Given the description of an element on the screen output the (x, y) to click on. 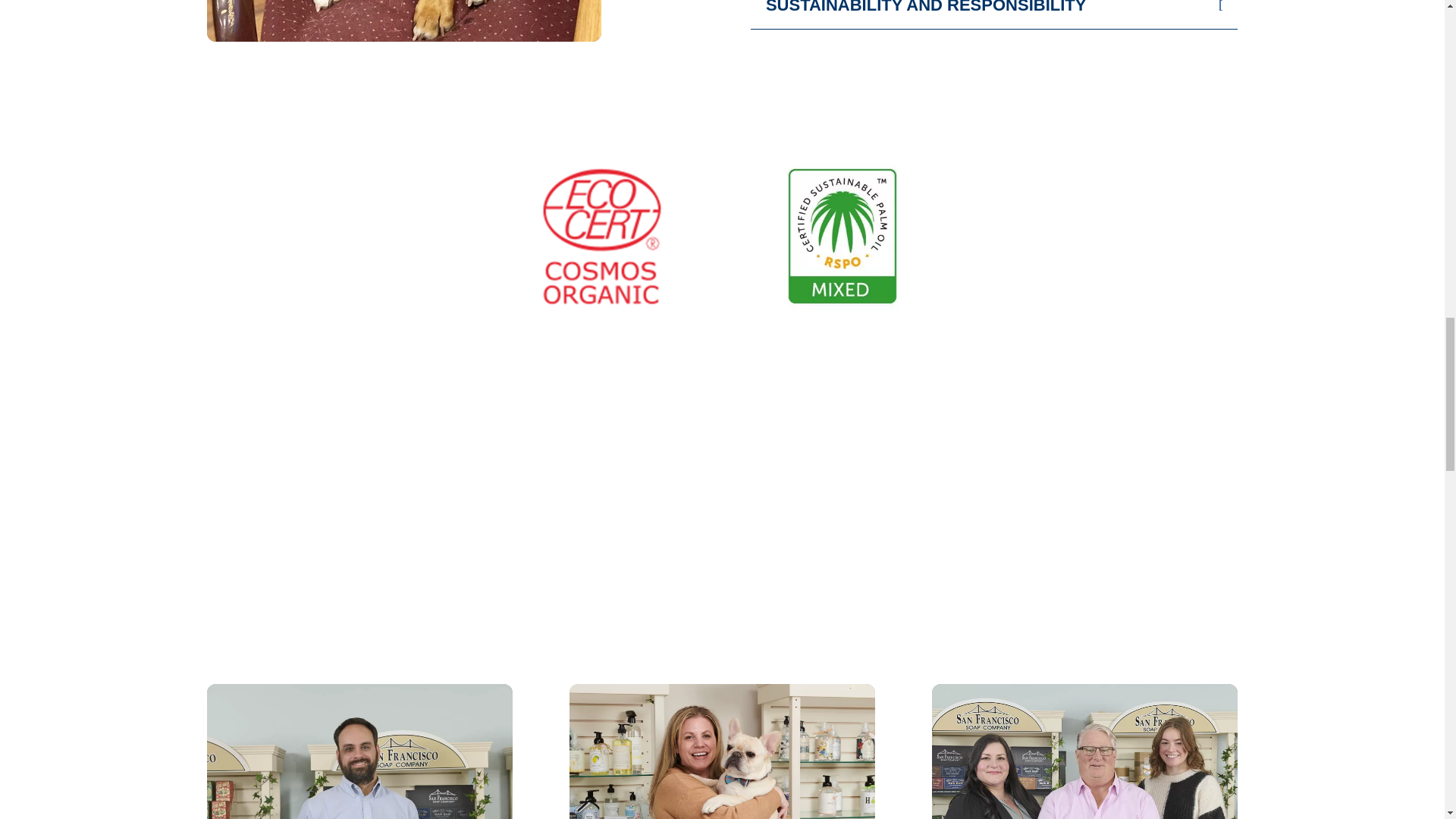
rspo (842, 235)
ecocert (601, 236)
